Given the description of an element on the screen output the (x, y) to click on. 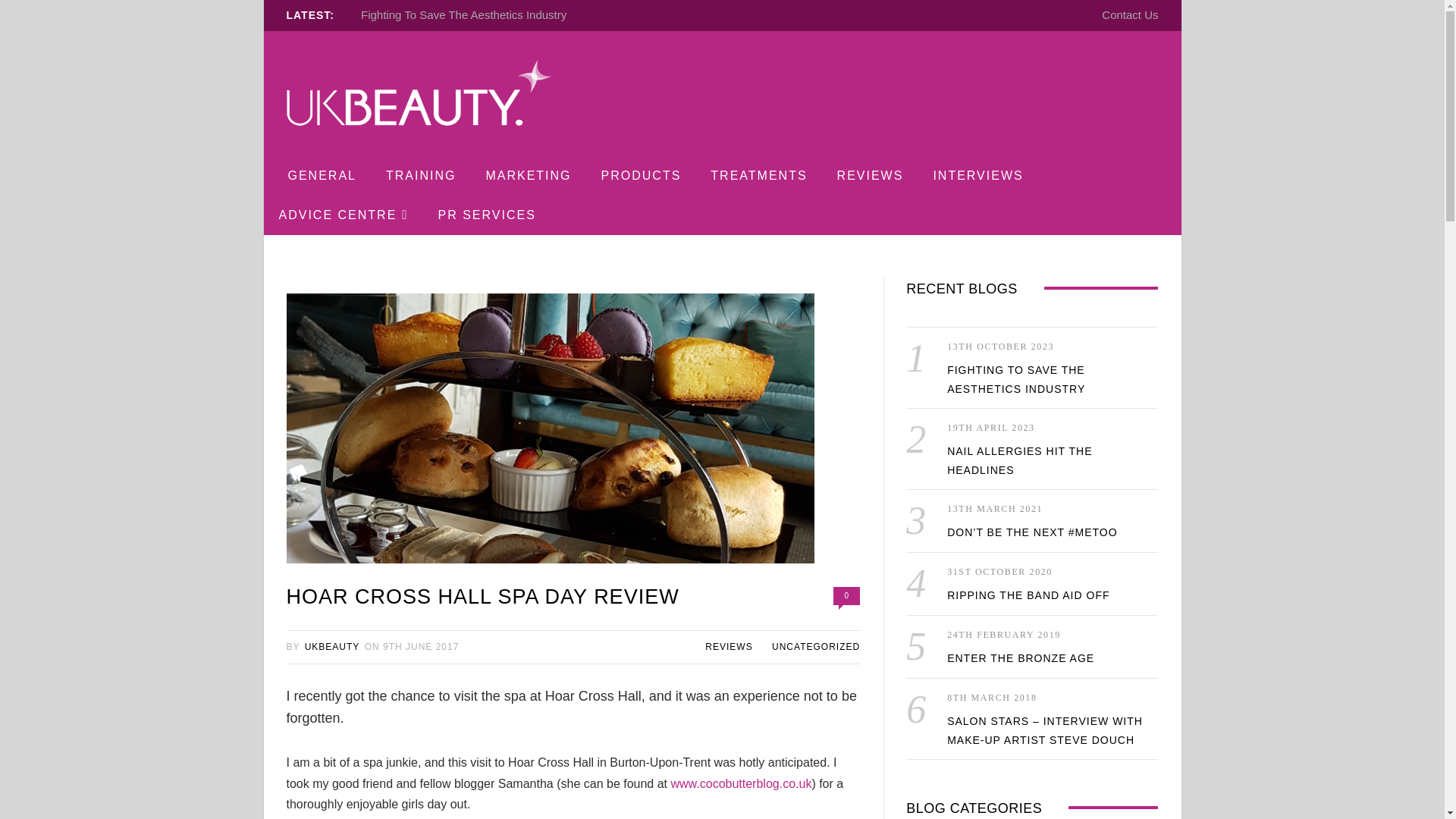
PRODUCTS (640, 175)
UNCATEGORIZED (815, 646)
TREATMENTS (758, 175)
TRAINING (420, 175)
Posts by ukbeauty (331, 646)
PR SERVICES (486, 215)
www.cocobutterblog.co.uk (739, 783)
MARKETING (527, 175)
GENERAL (321, 175)
INTERVIEWS (977, 175)
Fighting To Save The Aesthetics Industry (463, 14)
UK Beauty Online (418, 94)
Contact Us (1129, 14)
REVIEWS (870, 175)
